Given the description of an element on the screen output the (x, y) to click on. 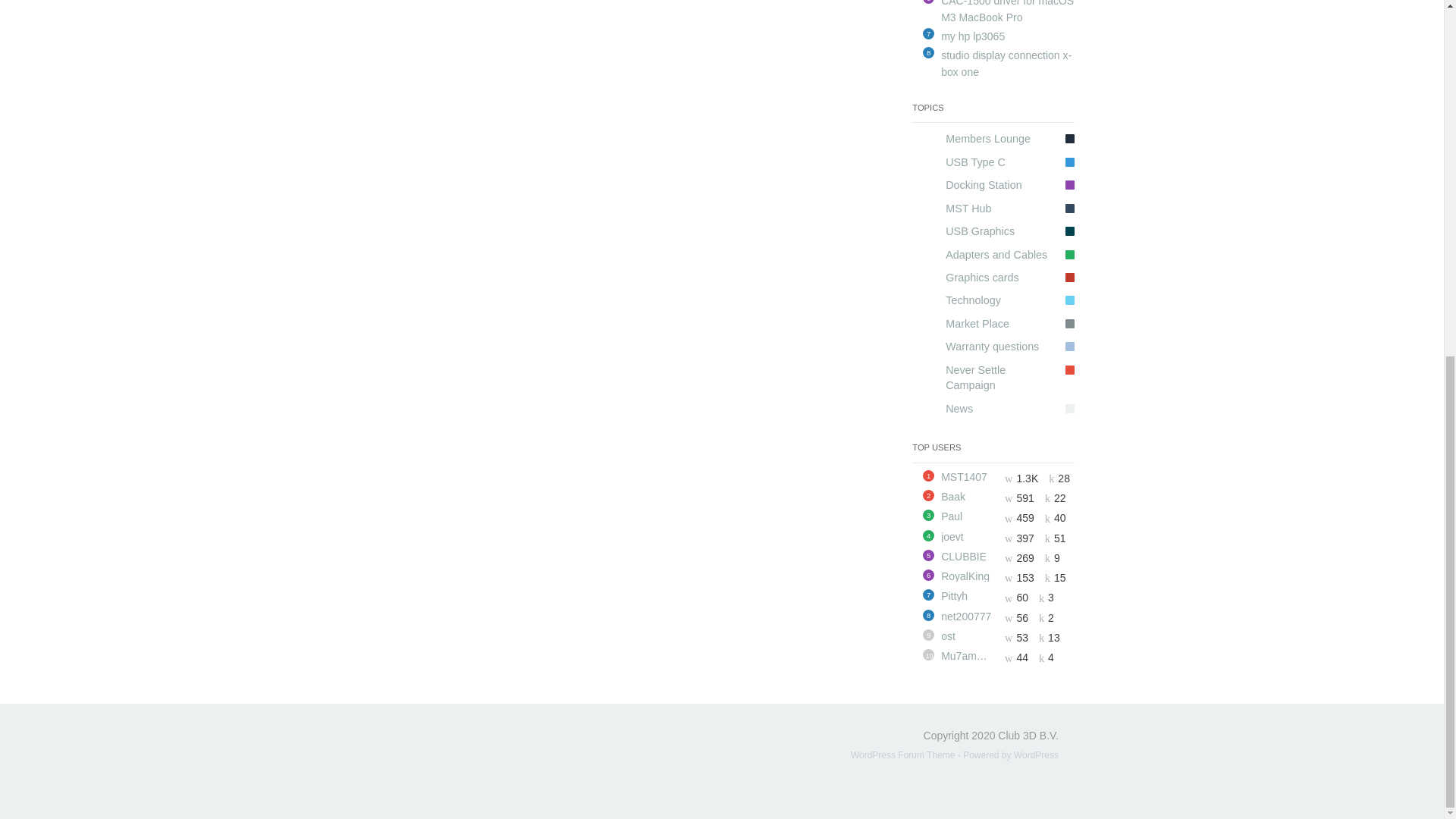
ost (967, 635)
Mu7ammad (967, 655)
RoyalKing (967, 575)
Paul (967, 516)
joevt (967, 536)
MST1407 (967, 476)
CLUBBIE (967, 556)
Pittyh (967, 595)
net200777 (967, 615)
Baak (967, 496)
